Given the description of an element on the screen output the (x, y) to click on. 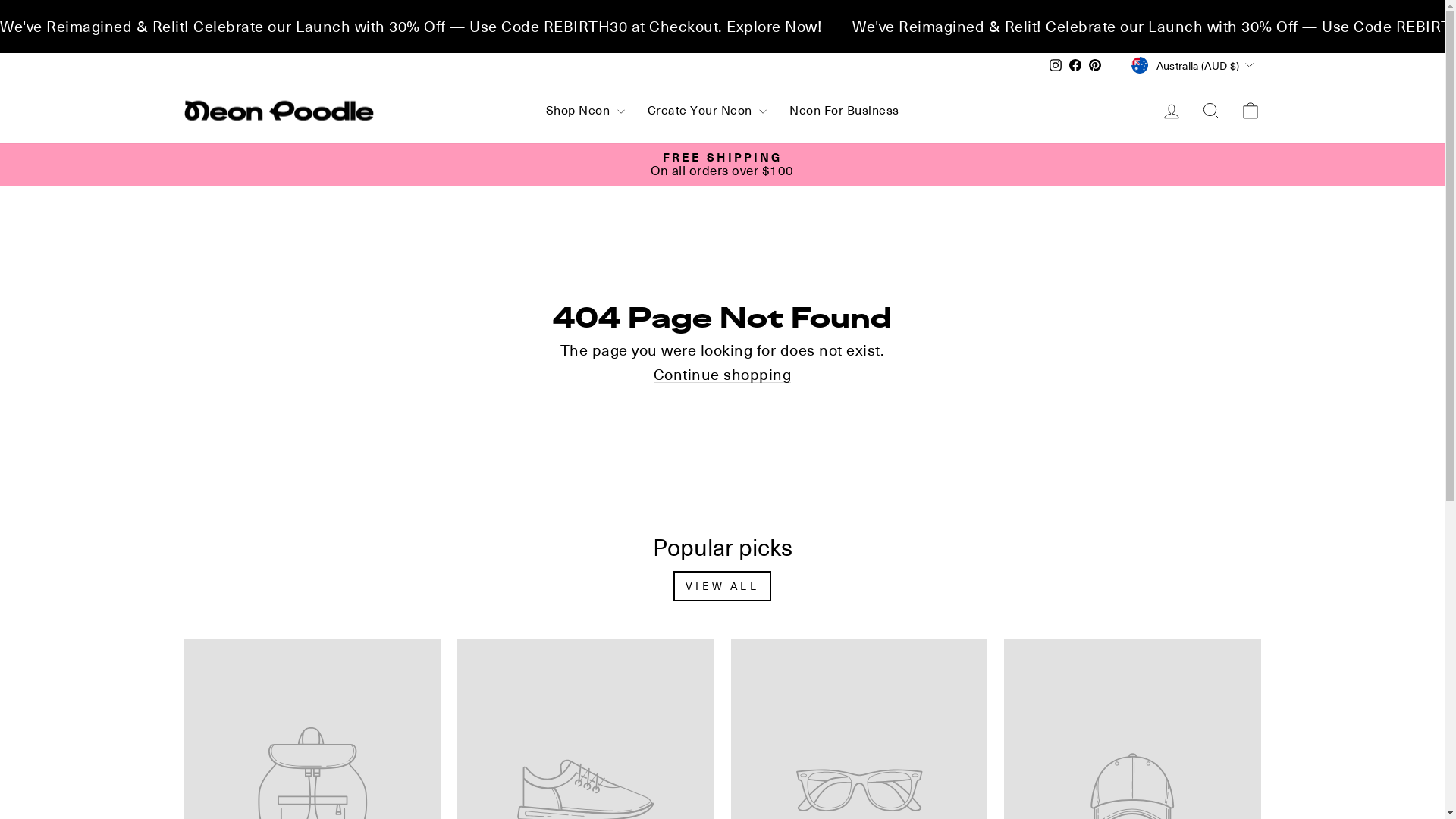
account
Log in Element type: text (1170, 110)
Neon For Business Element type: text (844, 109)
icon-bag-minimal
Cart Element type: text (1249, 110)
Australia (AUD $) Element type: text (1193, 65)
Pinterest Element type: text (1094, 65)
instagram
Instagram Element type: text (1055, 65)
VIEW ALL Element type: text (722, 586)
Facebook Element type: text (1075, 65)
icon-search
Search Element type: text (1210, 110)
Continue shopping Element type: text (722, 373)
